Given the description of an element on the screen output the (x, y) to click on. 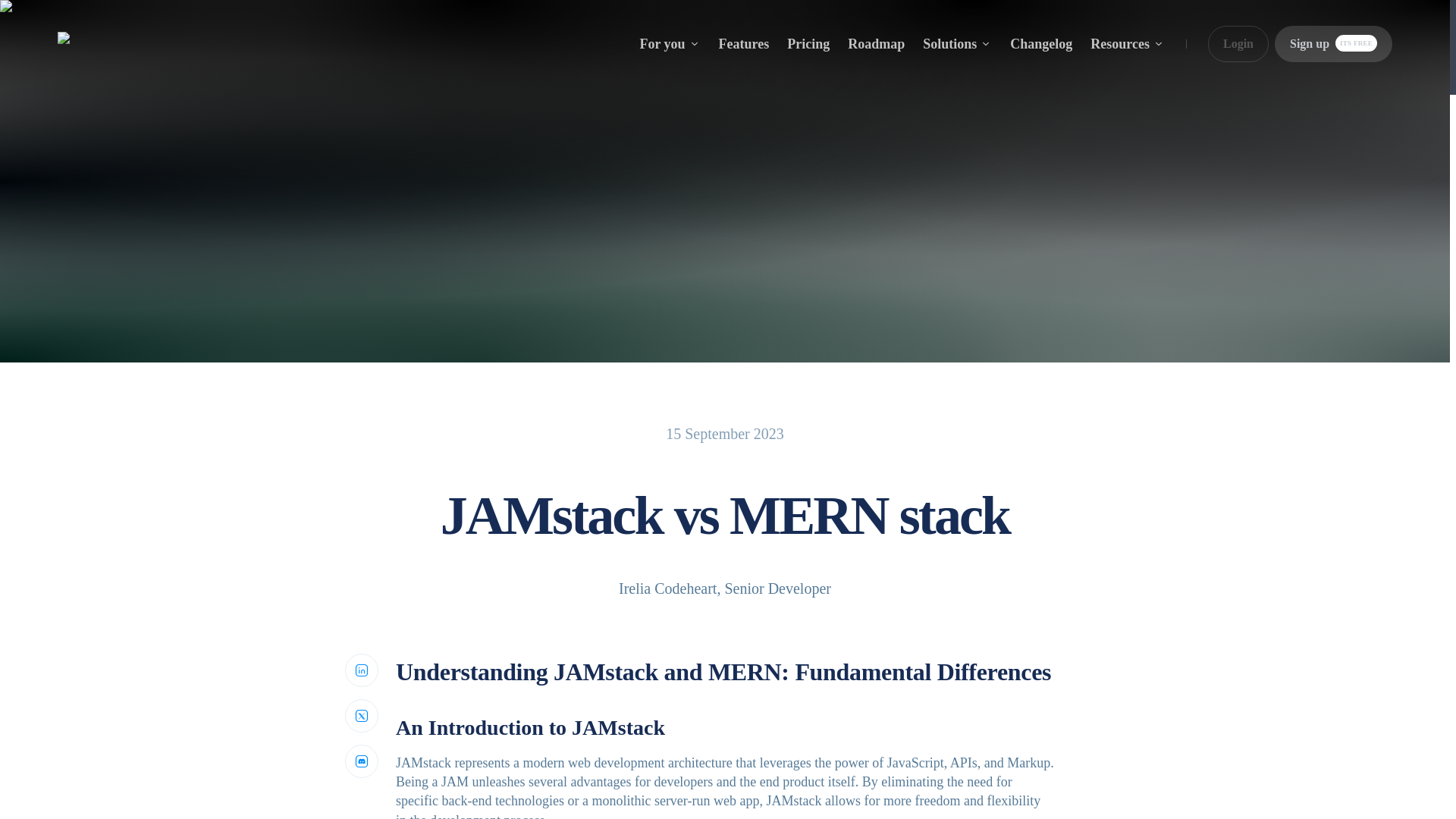
Solutions (957, 44)
For you (669, 44)
Resources (1127, 44)
Roadmap (875, 44)
Pricing (808, 44)
Go to home (105, 43)
Features (744, 44)
Changelog (1333, 43)
Login (1040, 44)
